Given the description of an element on the screen output the (x, y) to click on. 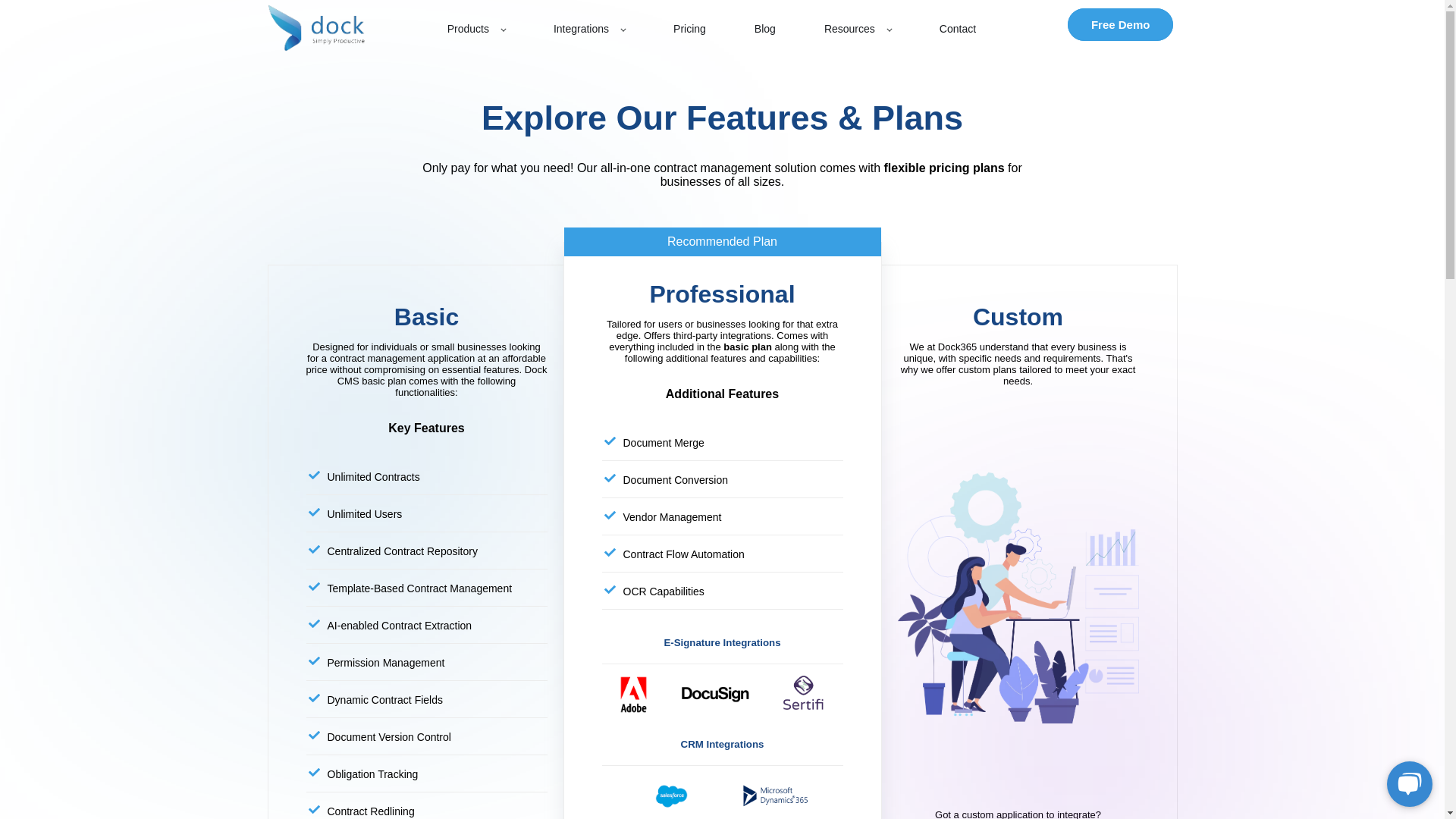
Contact (957, 28)
Pricing (689, 28)
Dock 365 - Contract Management Software (315, 27)
Products (475, 28)
Integrations (588, 28)
Free Demo (1120, 24)
Resources (857, 28)
